Given the description of an element on the screen output the (x, y) to click on. 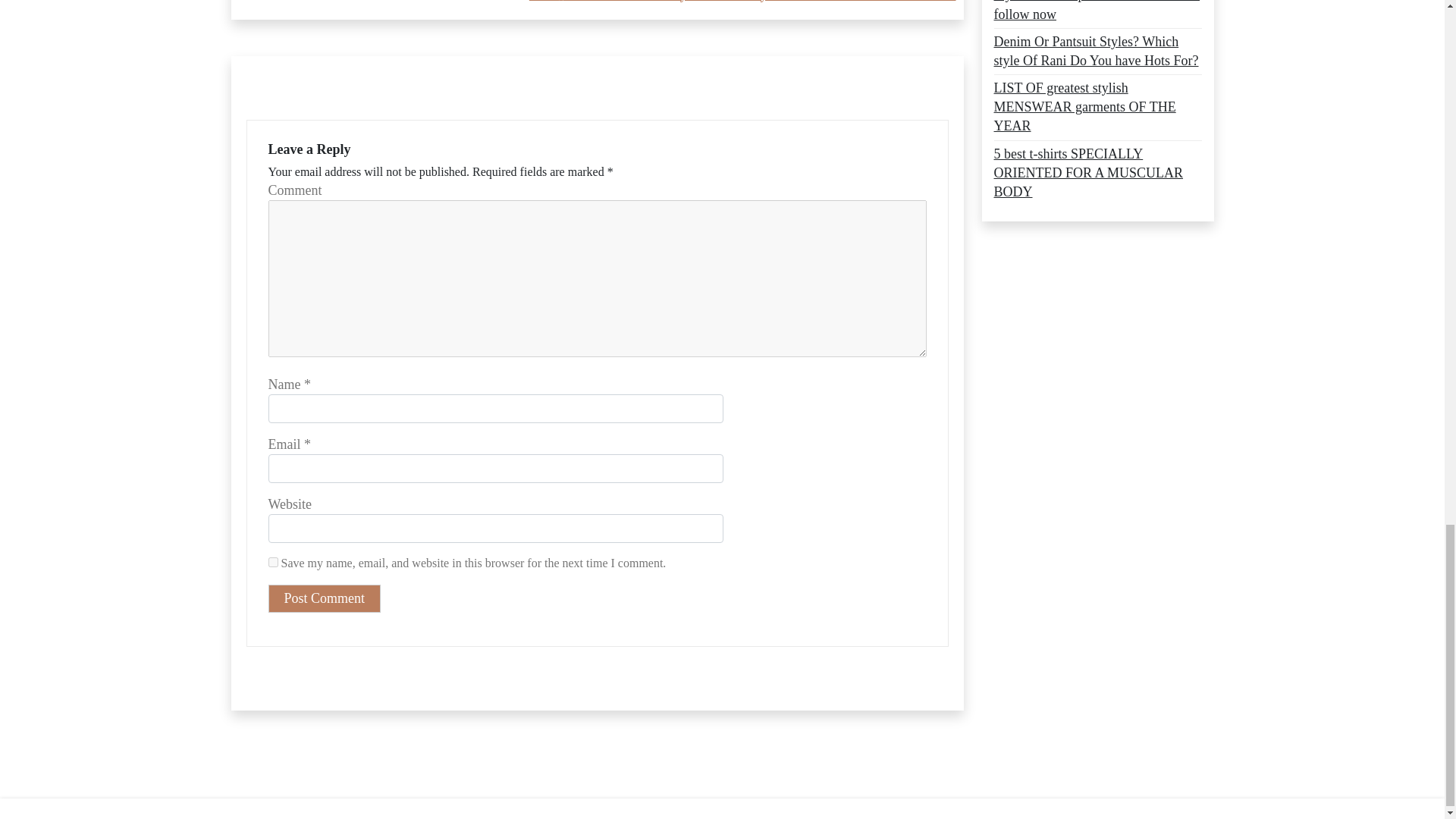
yes (272, 562)
Post Comment (324, 598)
Stylish sheer top outfit ideas You Can follow now (1096, 11)
LIST OF greatest stylish MENSWEAR garments OF THE YEAR (1096, 107)
Post Comment (324, 598)
